Given the description of an element on the screen output the (x, y) to click on. 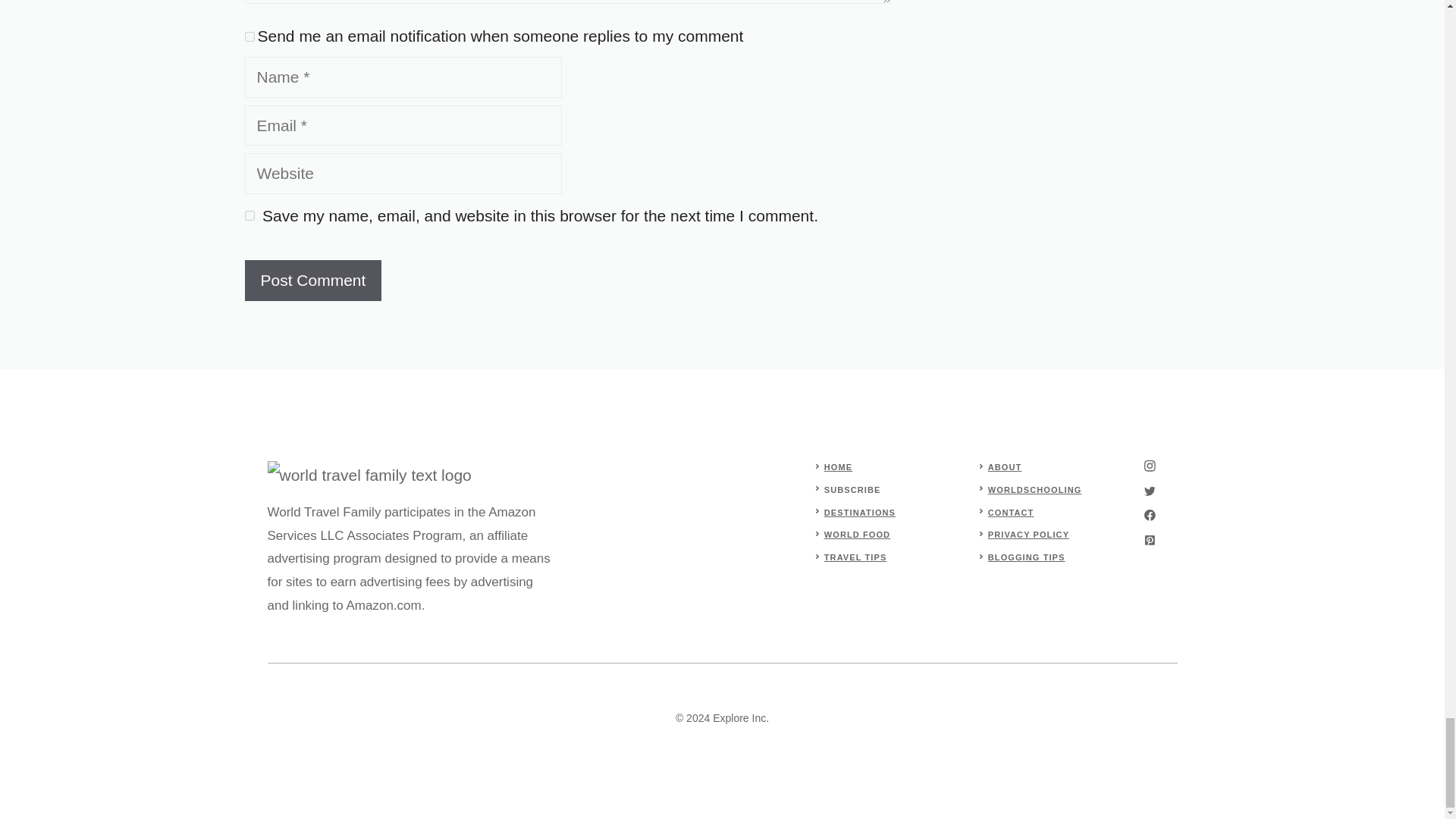
yes (248, 215)
1 (248, 36)
Post Comment (312, 280)
